Given the description of an element on the screen output the (x, y) to click on. 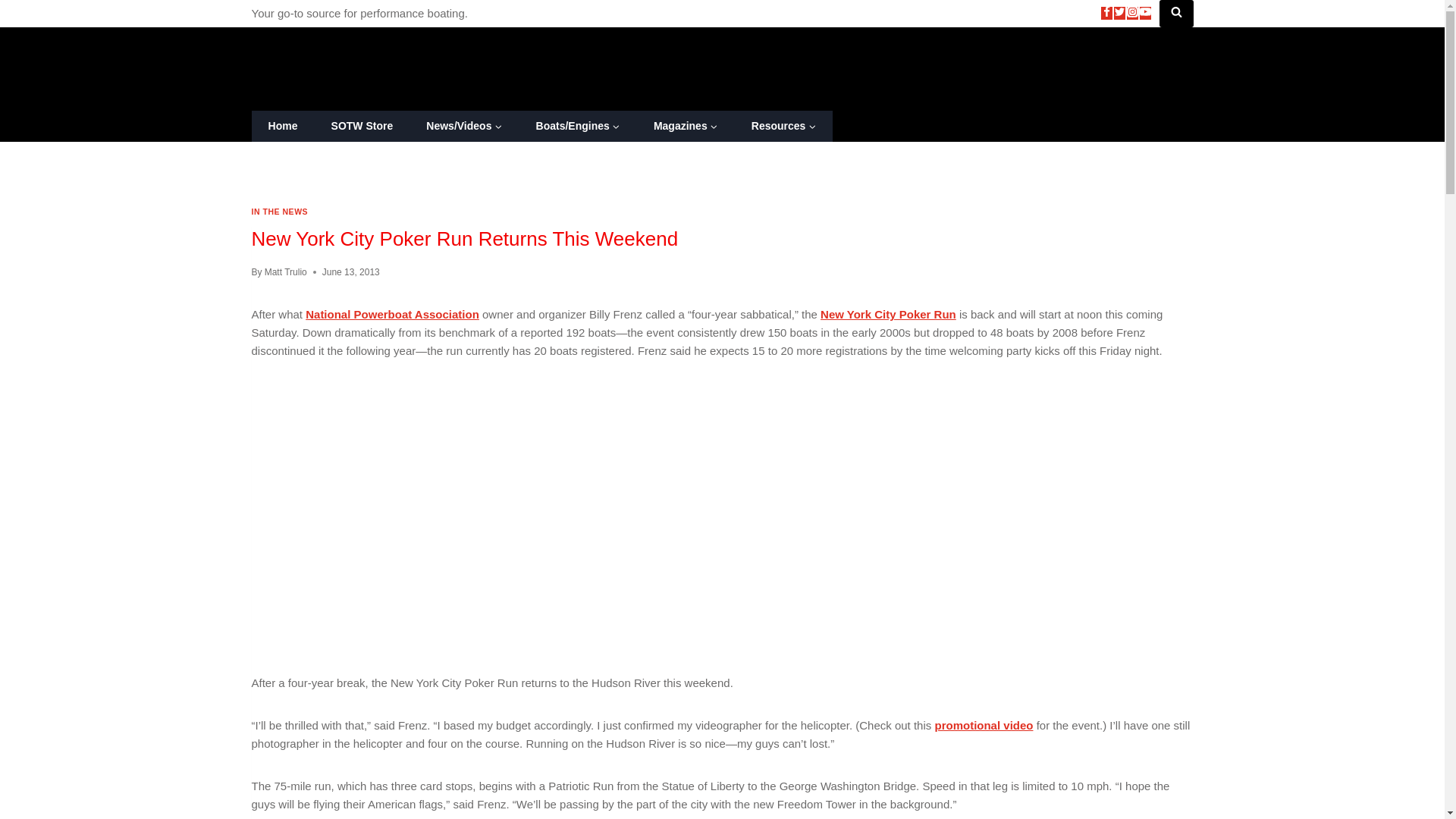
Magazines (686, 125)
Resources (783, 125)
SOTW Store (361, 125)
Home (282, 125)
